Given the description of an element on the screen output the (x, y) to click on. 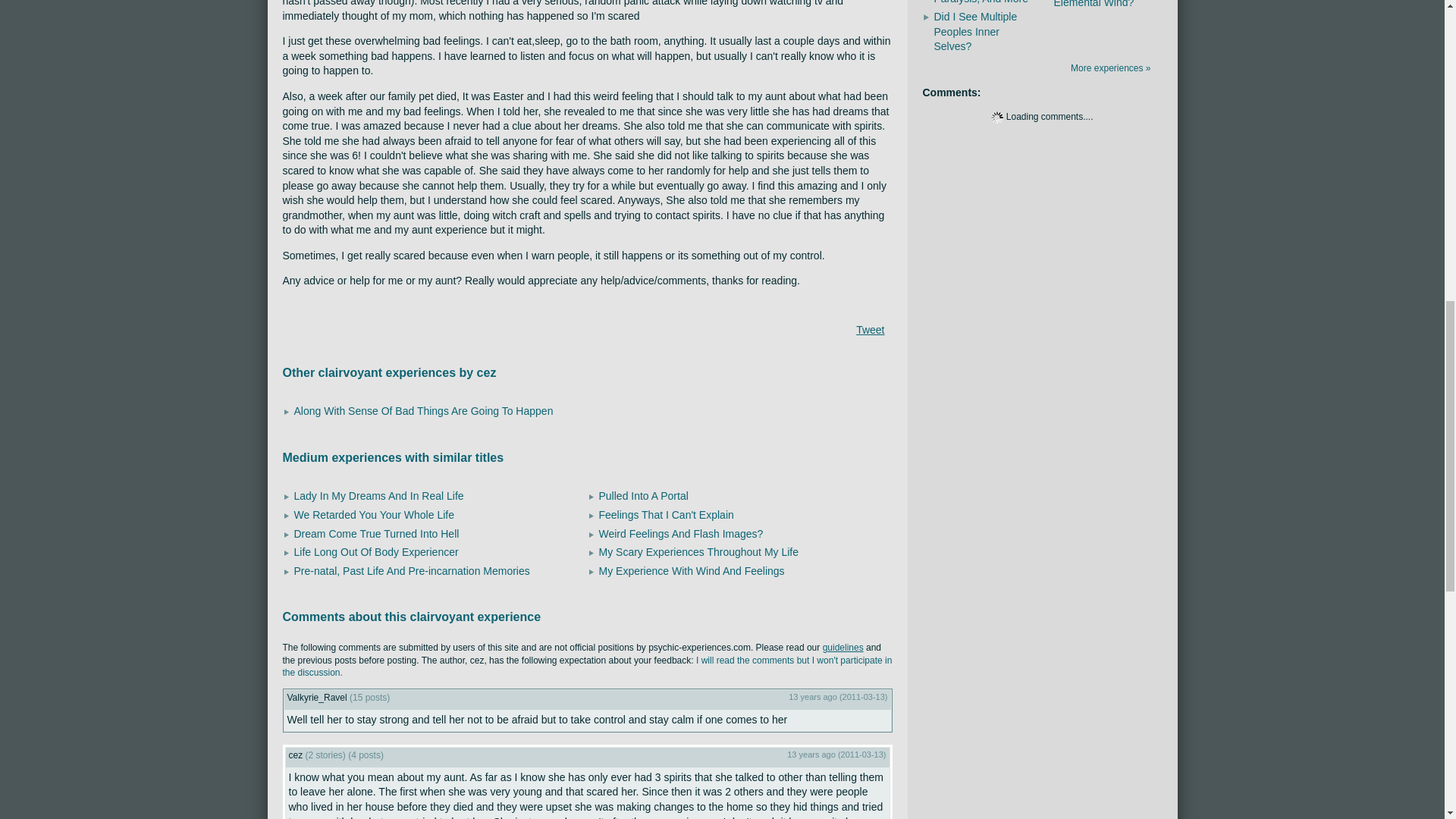
My Scary Experiences Throughout My Life (698, 551)
Feelings That I Can't Explain (665, 514)
Pre-natal, Past Life And Pre-incarnation Memories (411, 571)
Along With Sense Of Bad Things Are Going To Happen (423, 410)
Weird Feelings And Flash Images? (680, 533)
Pulled Into A Portal (643, 495)
Tweet (869, 329)
Lady In My Dreams And In Real Life (379, 495)
We Retarded You Your Whole Life (374, 514)
Dream Come True Turned Into Hell (377, 533)
Life Long Out Of Body Experiencer (376, 551)
